Given the description of an element on the screen output the (x, y) to click on. 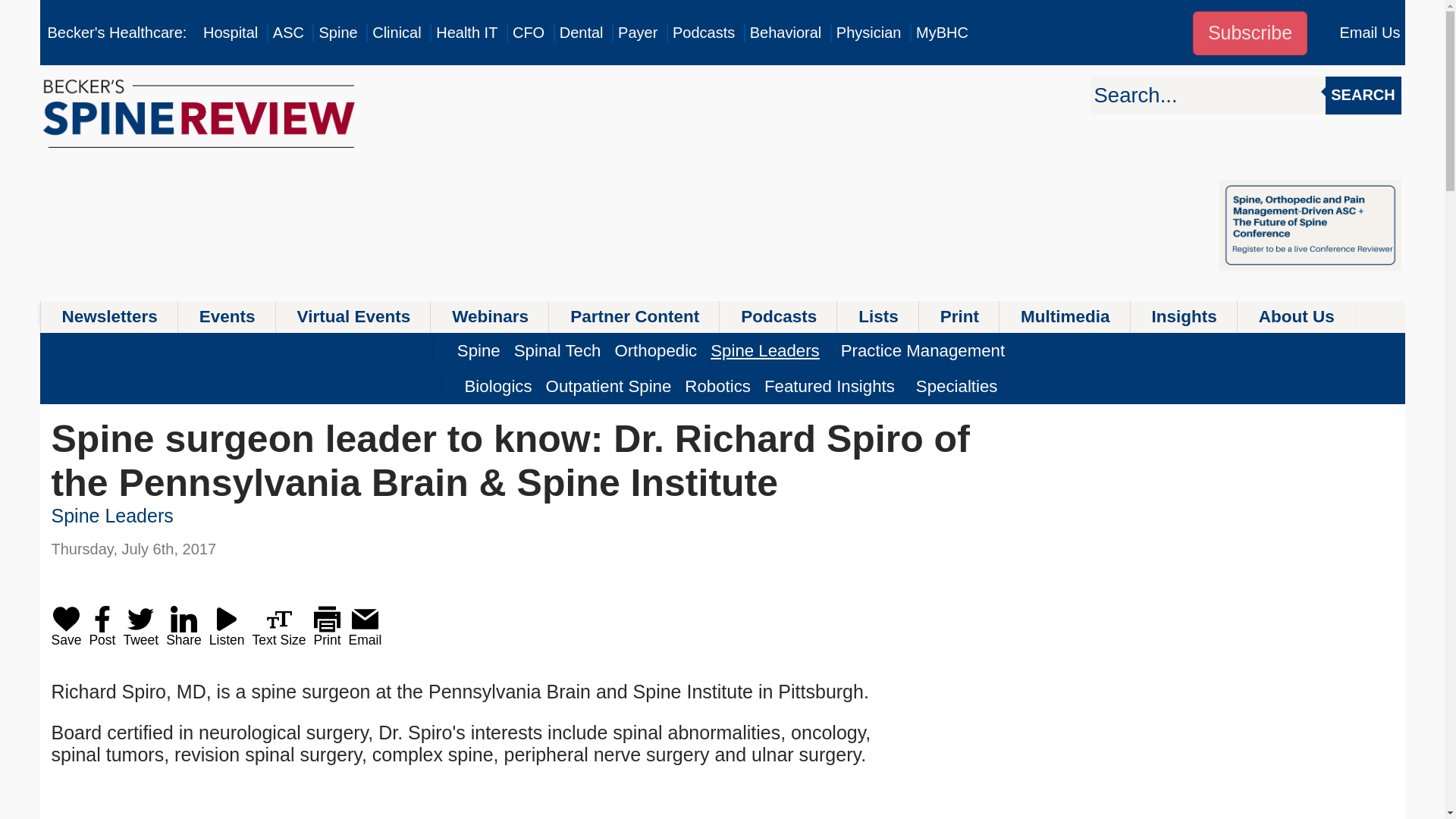
Clinical (396, 32)
Becker's CFO (528, 32)
Becker's Payer Issues (637, 32)
Dental (581, 32)
Becker's Podcasts (703, 32)
Physician (868, 32)
MyBHC (941, 32)
MyBHC (941, 32)
Becker's Behavioral Health (785, 32)
Becker's Hospital Review (230, 32)
ASC (288, 32)
SEARCH (1362, 95)
Physician (868, 32)
Becker's ASC Review (288, 32)
Hospital (230, 32)
